Given the description of an element on the screen output the (x, y) to click on. 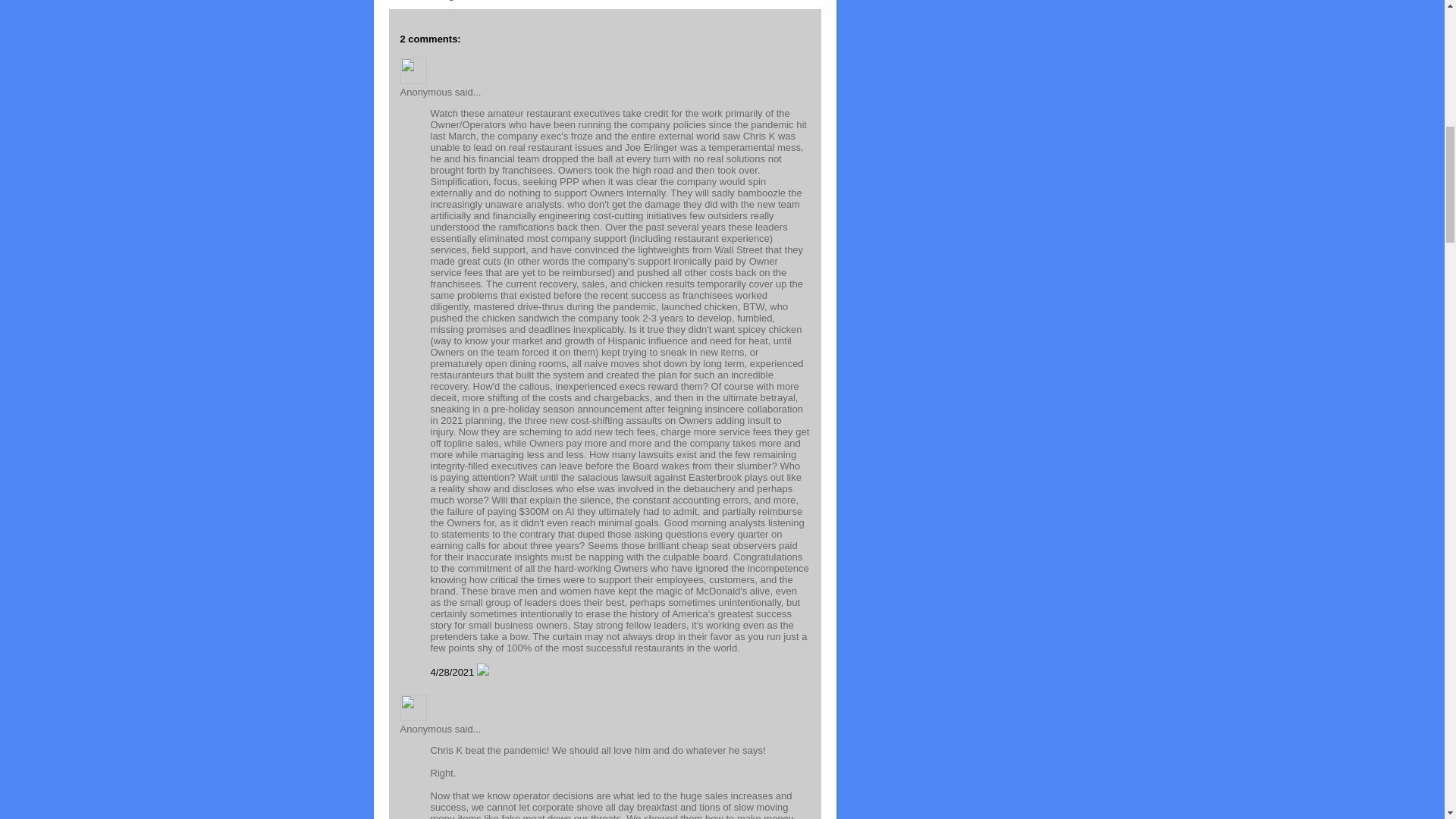
Delete Comment (483, 672)
Anonymous (413, 707)
Anonymous (413, 70)
Email This (410, 0)
Email This (410, 0)
comment permalink (453, 672)
BlogThis! (454, 0)
Share to Twitter (510, 0)
BlogThis! (454, 0)
Share to Twitter (510, 0)
